Given the description of an element on the screen output the (x, y) to click on. 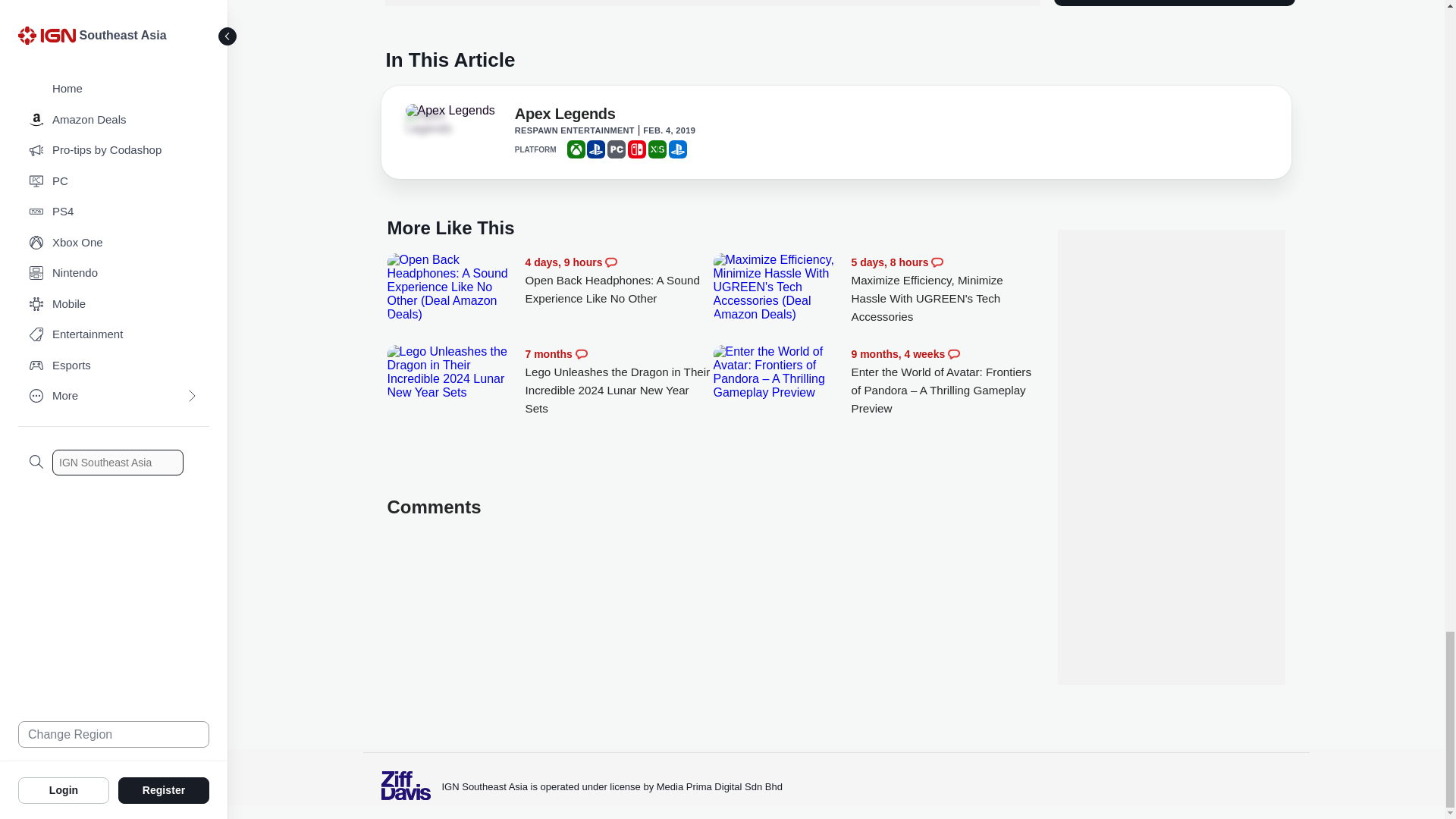
Apex Legends (448, 121)
Apex Legends (449, 110)
Open Back Headphones: A Sound Experience Like No Other (618, 280)
XBOXONE (576, 149)
PC (616, 149)
PS4 (595, 149)
Apex Legends (565, 116)
Open Back Headphones: A Sound Experience Like No Other (451, 287)
